Given the description of an element on the screen output the (x, y) to click on. 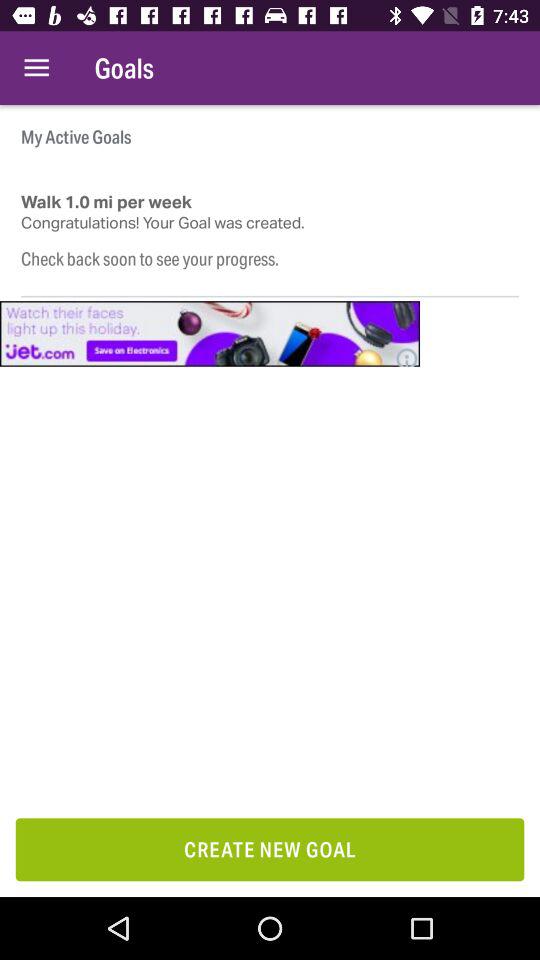
advertisement page (210, 333)
